Given the description of an element on the screen output the (x, y) to click on. 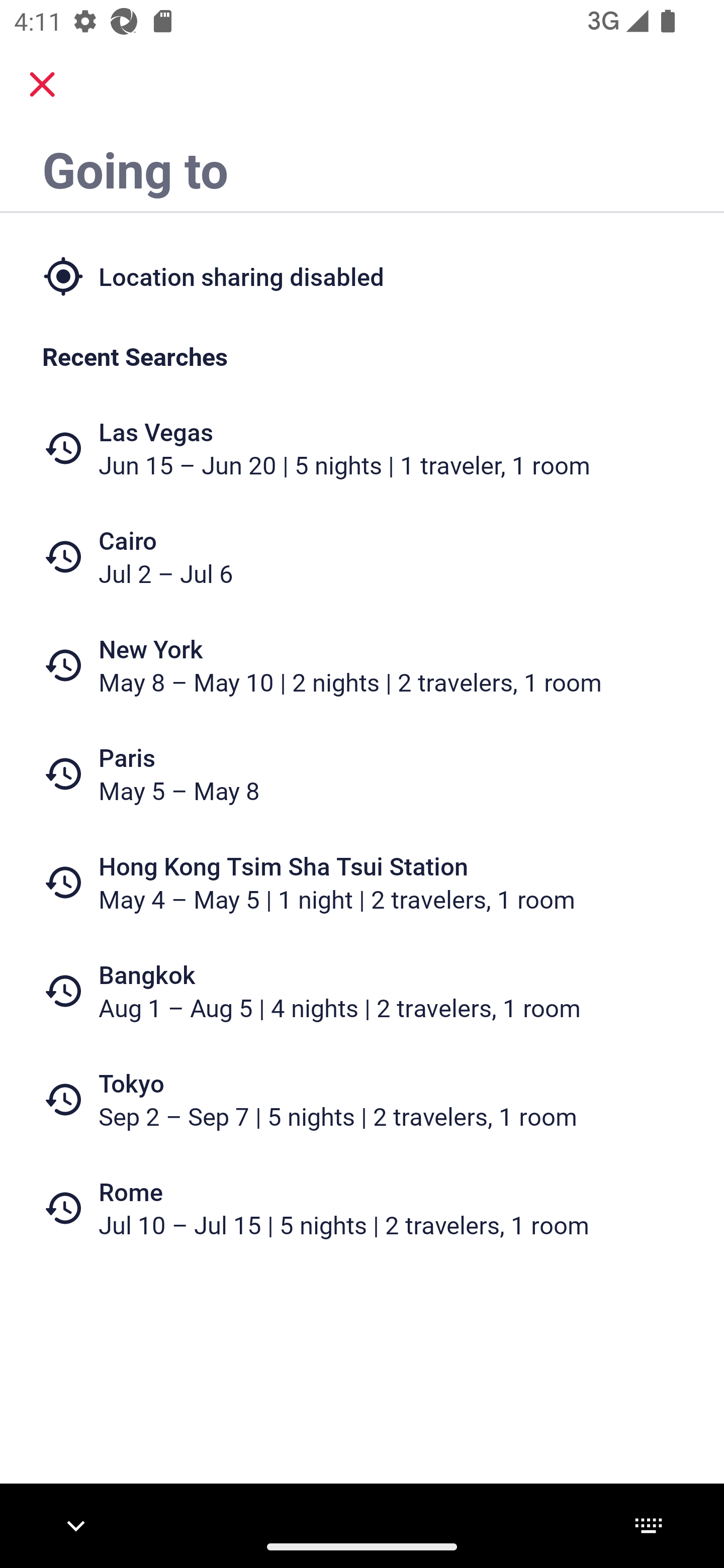
close. (42, 84)
Location sharing disabled (362, 275)
Cairo Jul 2 – Jul 6 (362, 557)
Paris May 5 – May 8 (362, 773)
